Given the description of an element on the screen output the (x, y) to click on. 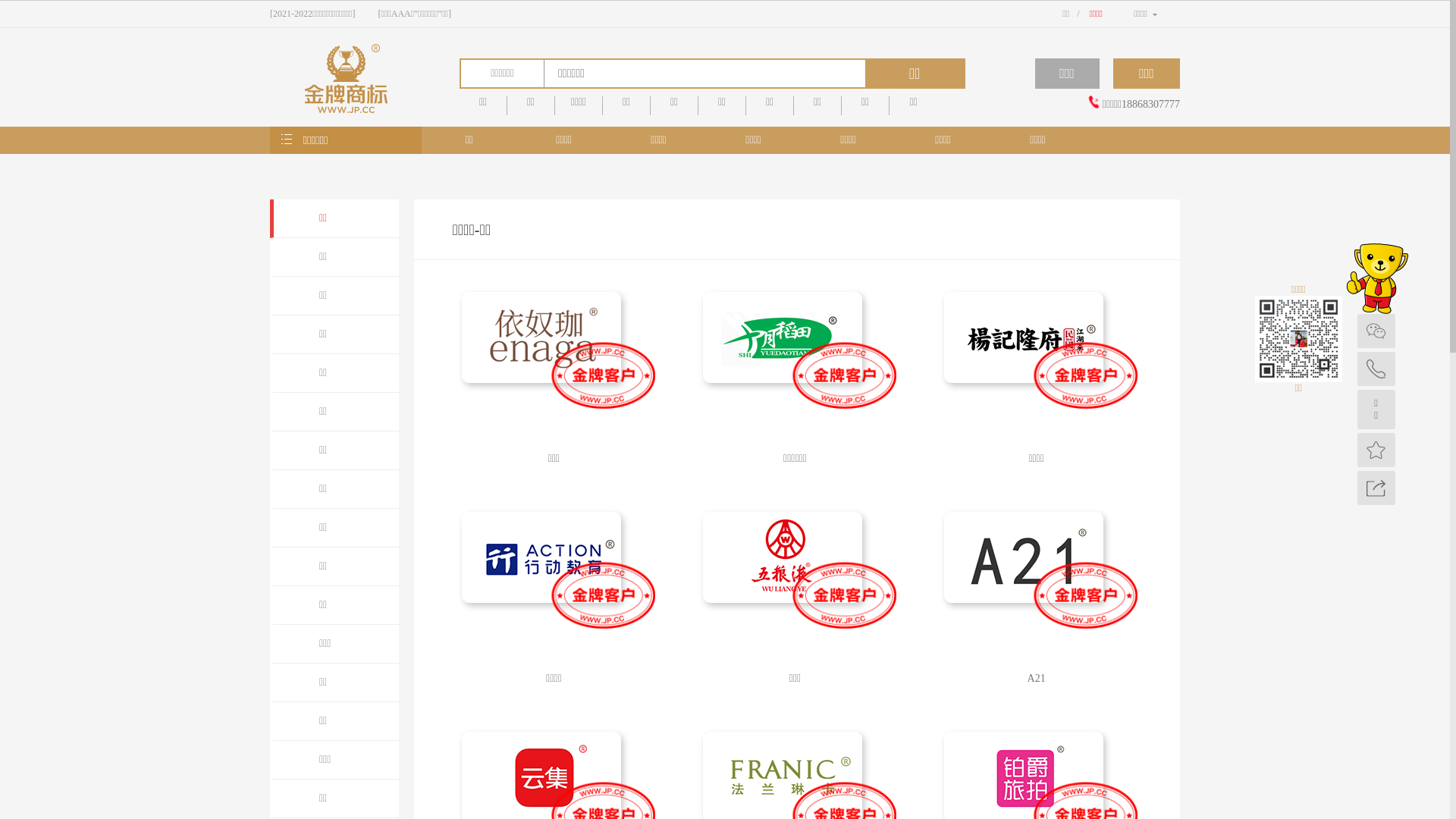
01 Element type: text (555, 102)
12 Element type: text (743, 129)
32 Element type: text (492, 211)
18 Element type: text (617, 156)
39 Element type: text (931, 211)
24 Element type: text (492, 183)
14 Element type: text (868, 129)
25 Element type: text (555, 183)
42 Element type: text (617, 238)
04 Element type: text (743, 102)
28 Element type: text (743, 183)
19 Element type: text (680, 156)
09 Element type: text (555, 129)
07 Element type: text (931, 102)
29 Element type: text (806, 183)
08 Element type: text (492, 129)
03 Element type: text (680, 102)
26 Element type: text (617, 183)
36 Element type: text (743, 211)
21 Element type: text (806, 156)
30 Element type: text (868, 183)
34 Element type: text (617, 211)
45 Element type: text (806, 238)
16 Element type: text (492, 156)
06 Element type: text (868, 102)
17 Element type: text (555, 156)
44 Element type: text (743, 238)
43 Element type: text (680, 238)
22 Element type: text (868, 156)
15 Element type: text (931, 129)
41 Element type: text (555, 238)
23 Element type: text (931, 156)
37 Element type: text (806, 211)
33 Element type: text (555, 211)
10 Element type: text (617, 129)
35 Element type: text (680, 211)
38 Element type: text (868, 211)
40 Element type: text (492, 238)
11 Element type: text (680, 129)
27 Element type: text (680, 183)
13 Element type: text (806, 129)
31 Element type: text (931, 183)
20 Element type: text (743, 156)
02 Element type: text (617, 102)
05 Element type: text (806, 102)
A21 Element type: text (1036, 604)
